Given the description of an element on the screen output the (x, y) to click on. 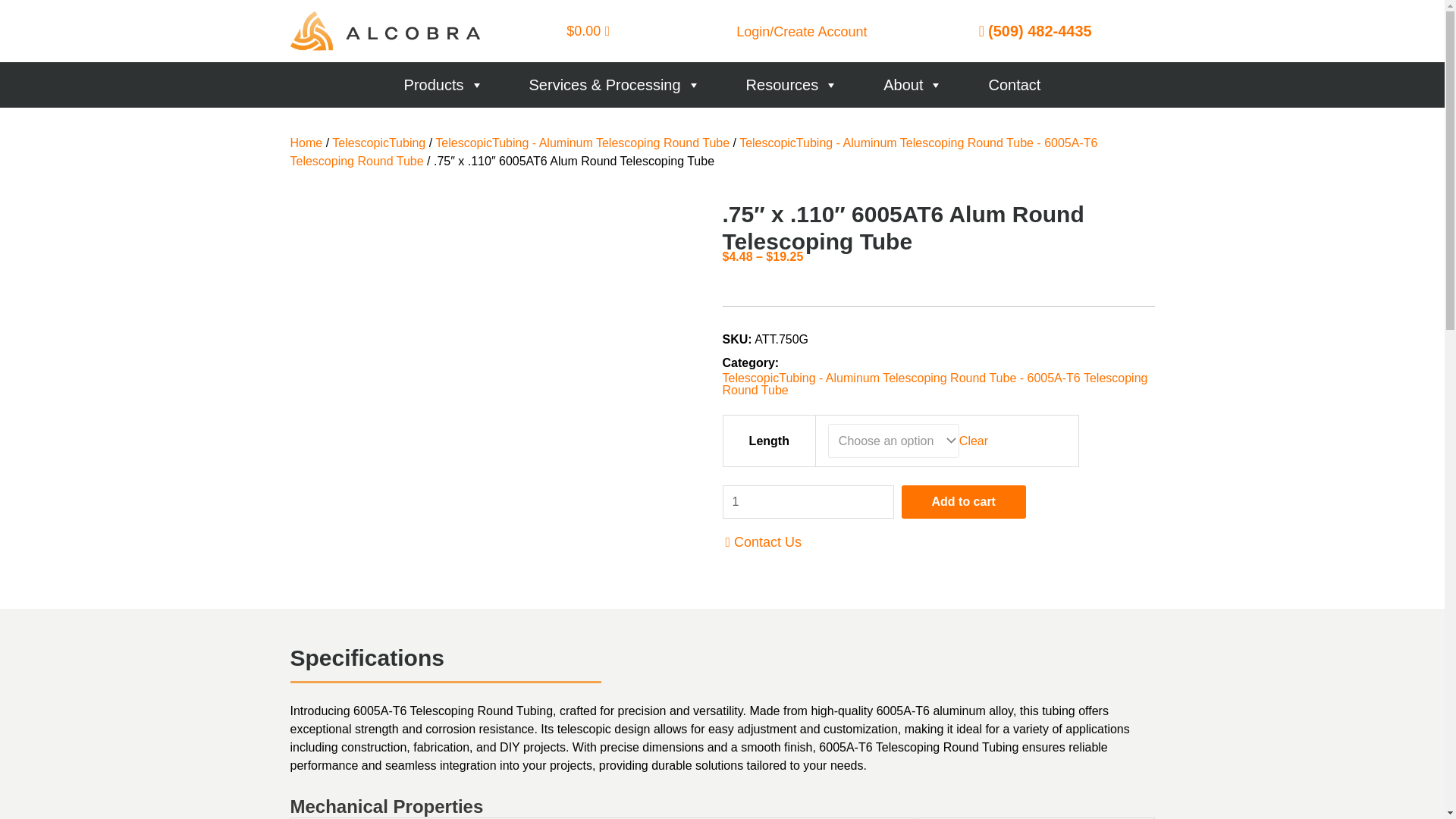
1 (807, 501)
Resources (792, 84)
Products (443, 84)
